Given the description of an element on the screen output the (x, y) to click on. 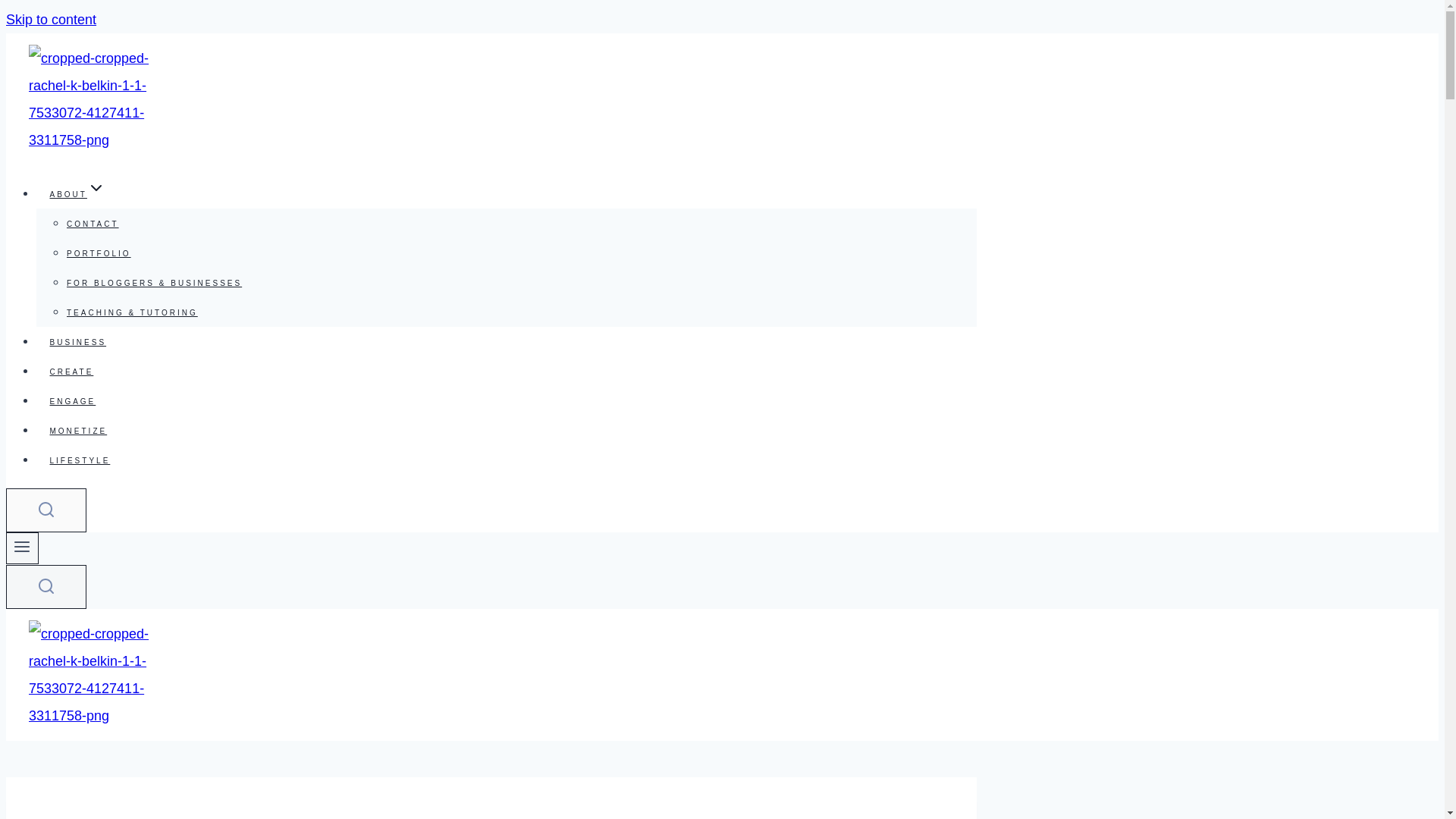
SEARCH (45, 587)
ABOUTEXPAND (76, 194)
SEARCH (46, 586)
Skip to content (50, 19)
PORTFOLIO (98, 253)
CONTACT (92, 223)
EXPAND (95, 188)
TOGGLE MENU (22, 548)
TOGGLE MENU (21, 546)
CREATE (71, 371)
